Given the description of an element on the screen output the (x, y) to click on. 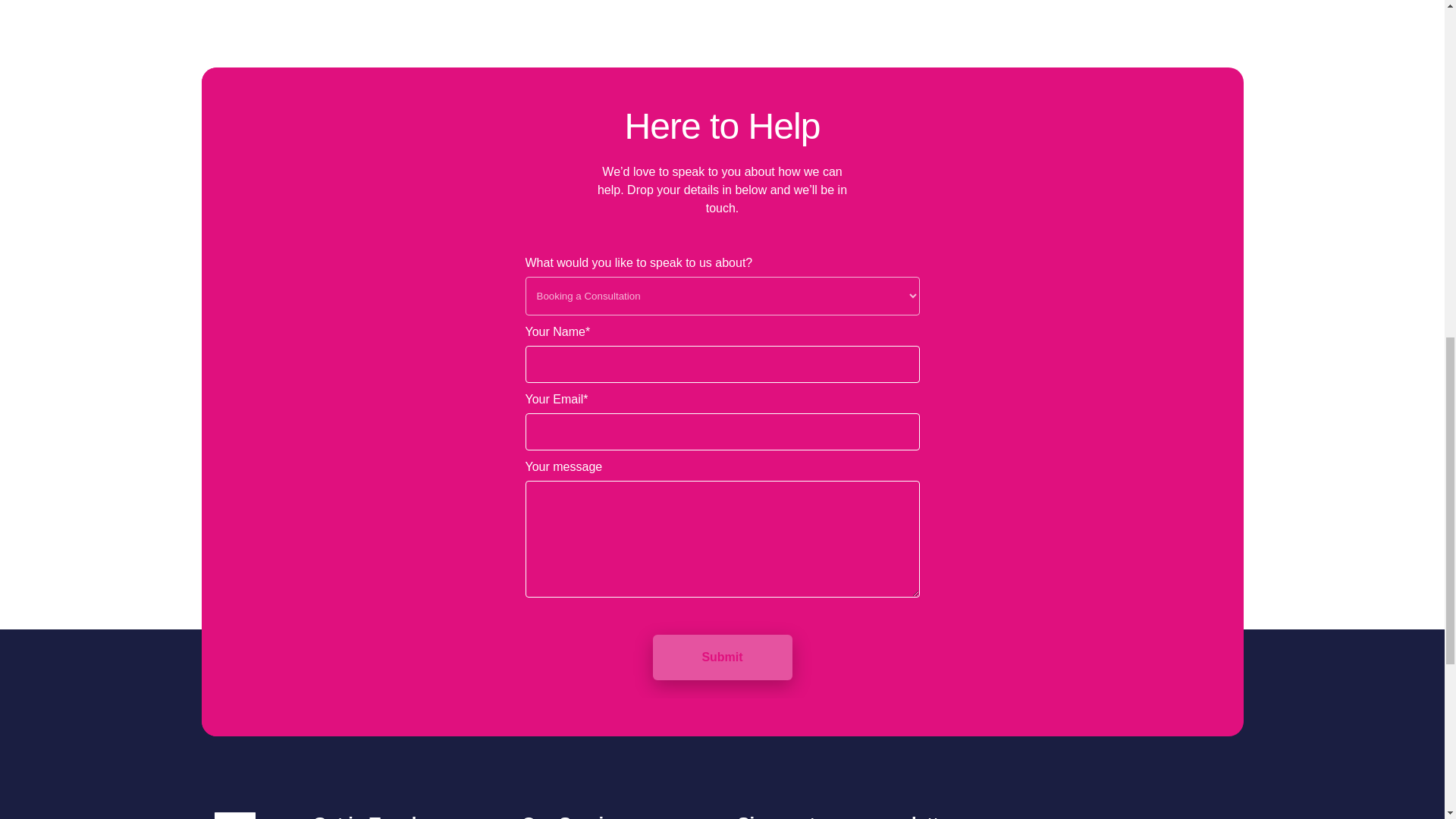
Submit (722, 657)
Submit (722, 657)
